Given the description of an element on the screen output the (x, y) to click on. 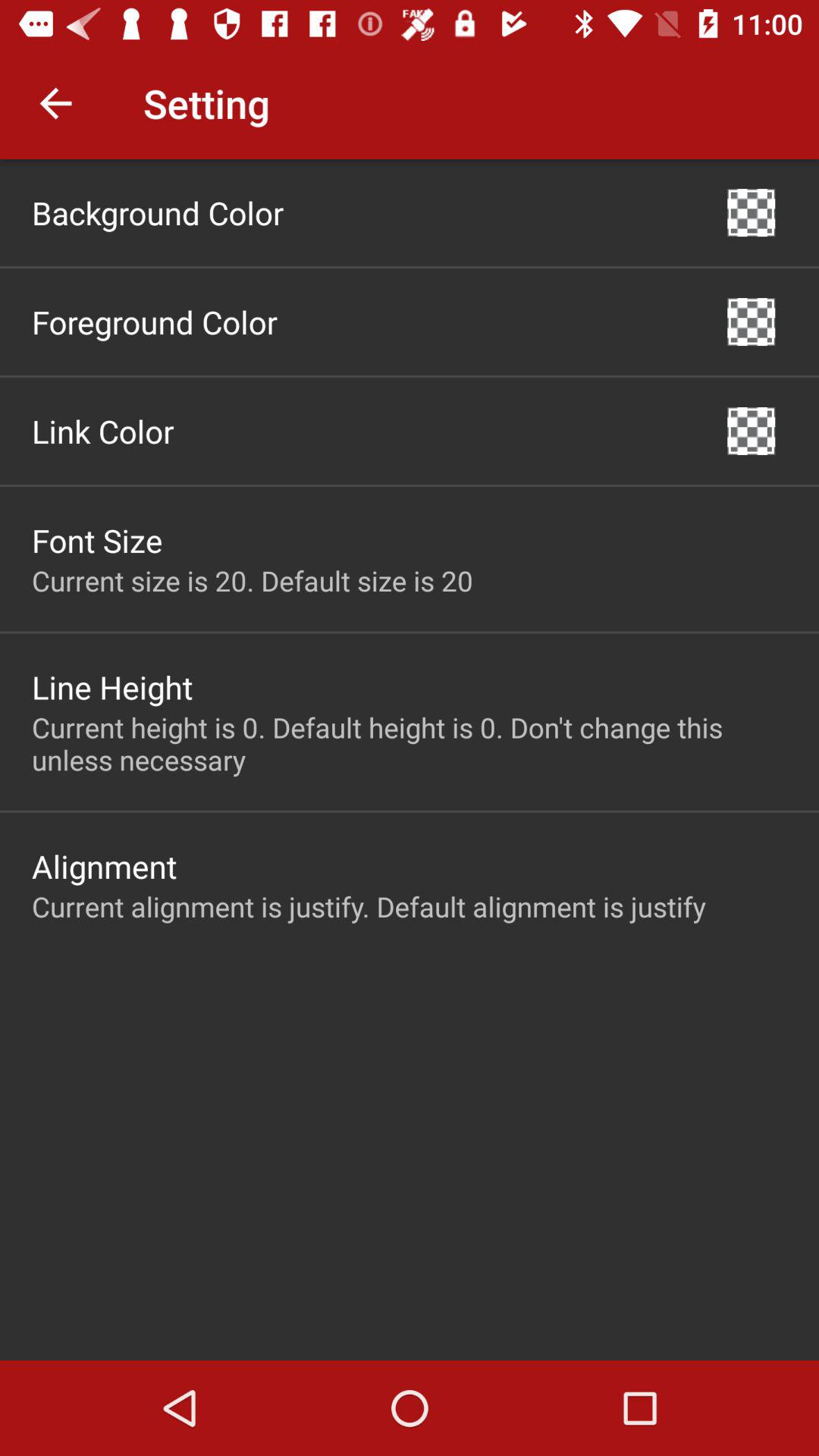
tap the icon above the current height is icon (111, 686)
